Given the description of an element on the screen output the (x, y) to click on. 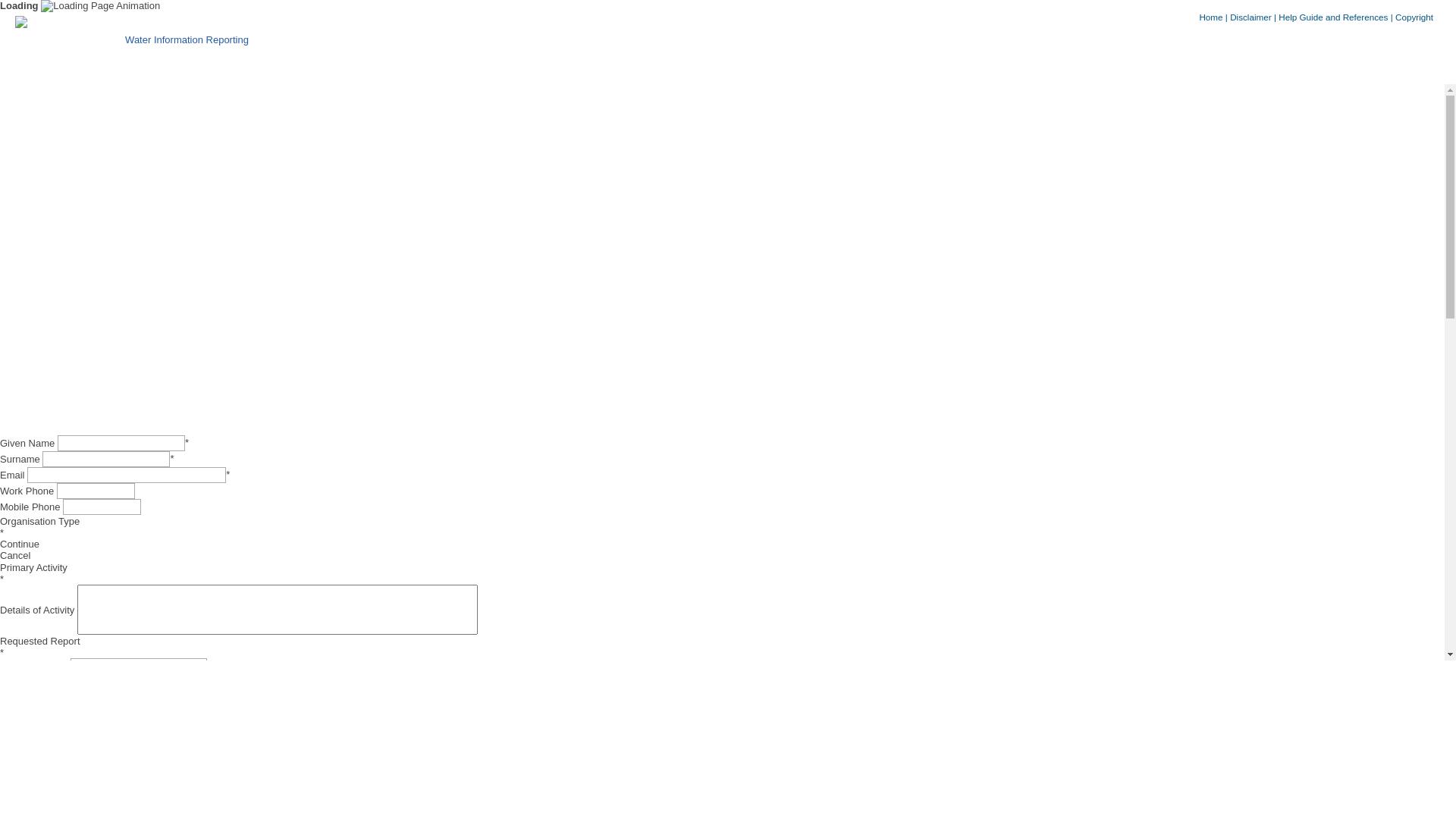
Print Preview Element type: hover (722, 259)
Disclaimer Element type: text (1250, 16)
Water Information Reporting Element type: hover (180, 36)
Help Guide and References Element type: text (1332, 16)
Copyright Element type: text (1414, 16)
Home Element type: text (1210, 16)
